Given the description of an element on the screen output the (x, y) to click on. 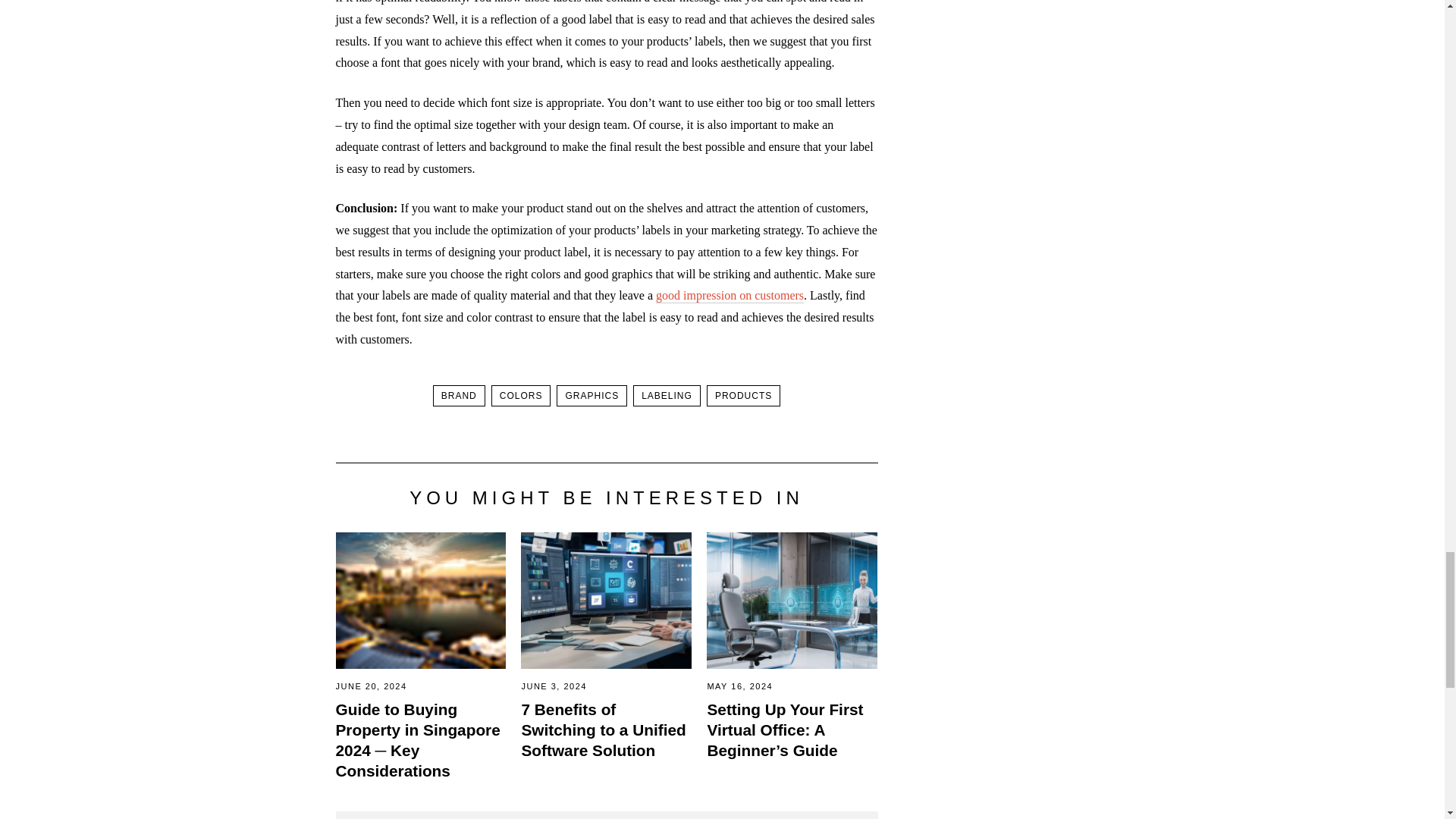
LABELING (666, 395)
BRAND (458, 395)
PRODUCTS (743, 395)
7 Benefits of Switching to a Unified Software Solution (603, 730)
good impression on customers (729, 295)
GRAPHICS (591, 395)
COLORS (521, 395)
